Given the description of an element on the screen output the (x, y) to click on. 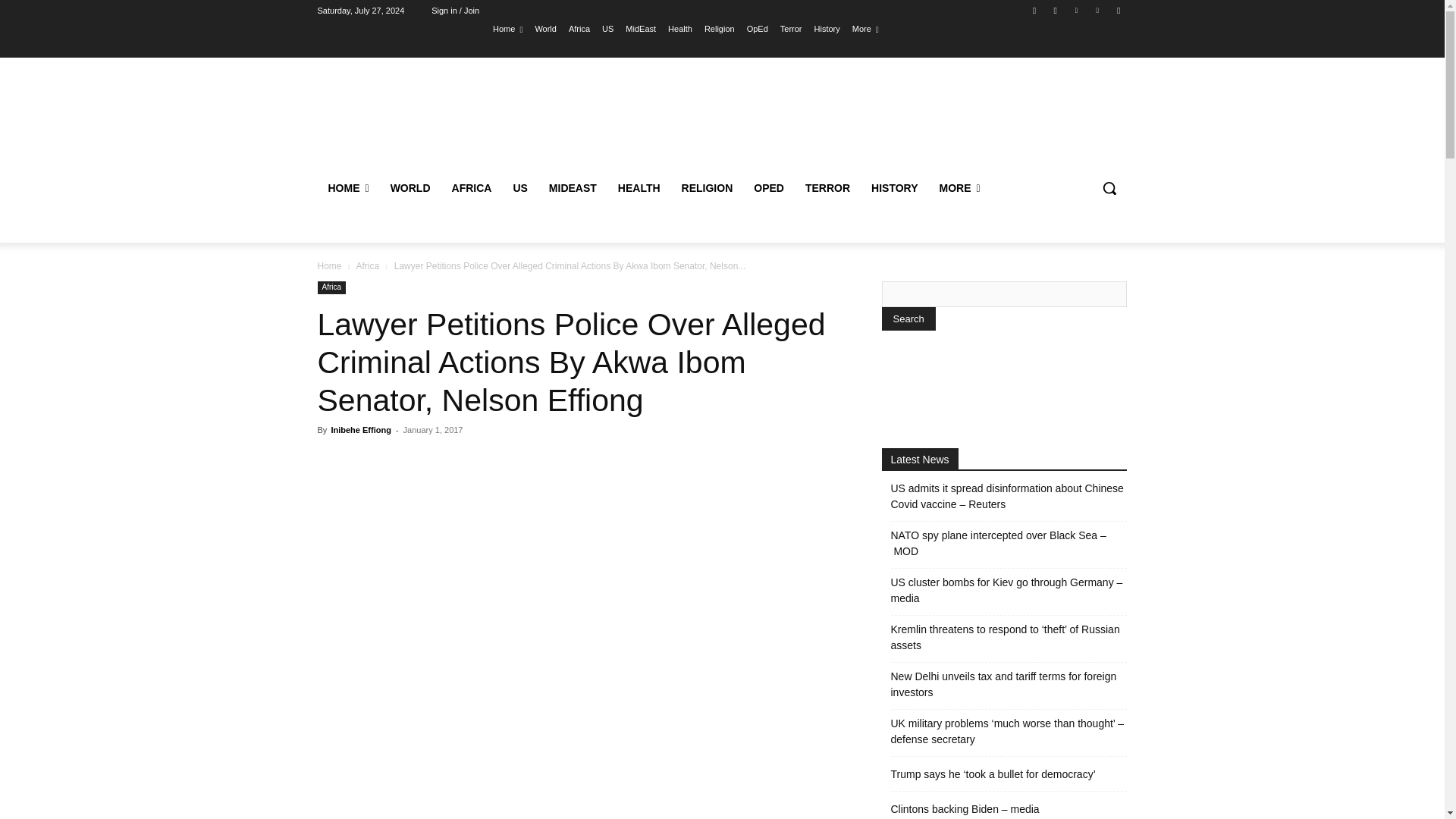
US (607, 28)
Health (680, 28)
Religion (719, 28)
World (545, 28)
MidEast (641, 28)
Twitter (1075, 9)
Facebook (1034, 9)
Search (907, 318)
Africa (579, 28)
Terror (791, 28)
OpEd (757, 28)
Vimeo (1097, 9)
View all posts in Africa (366, 266)
Home (507, 28)
Instagram (1055, 9)
